Given the description of an element on the screen output the (x, y) to click on. 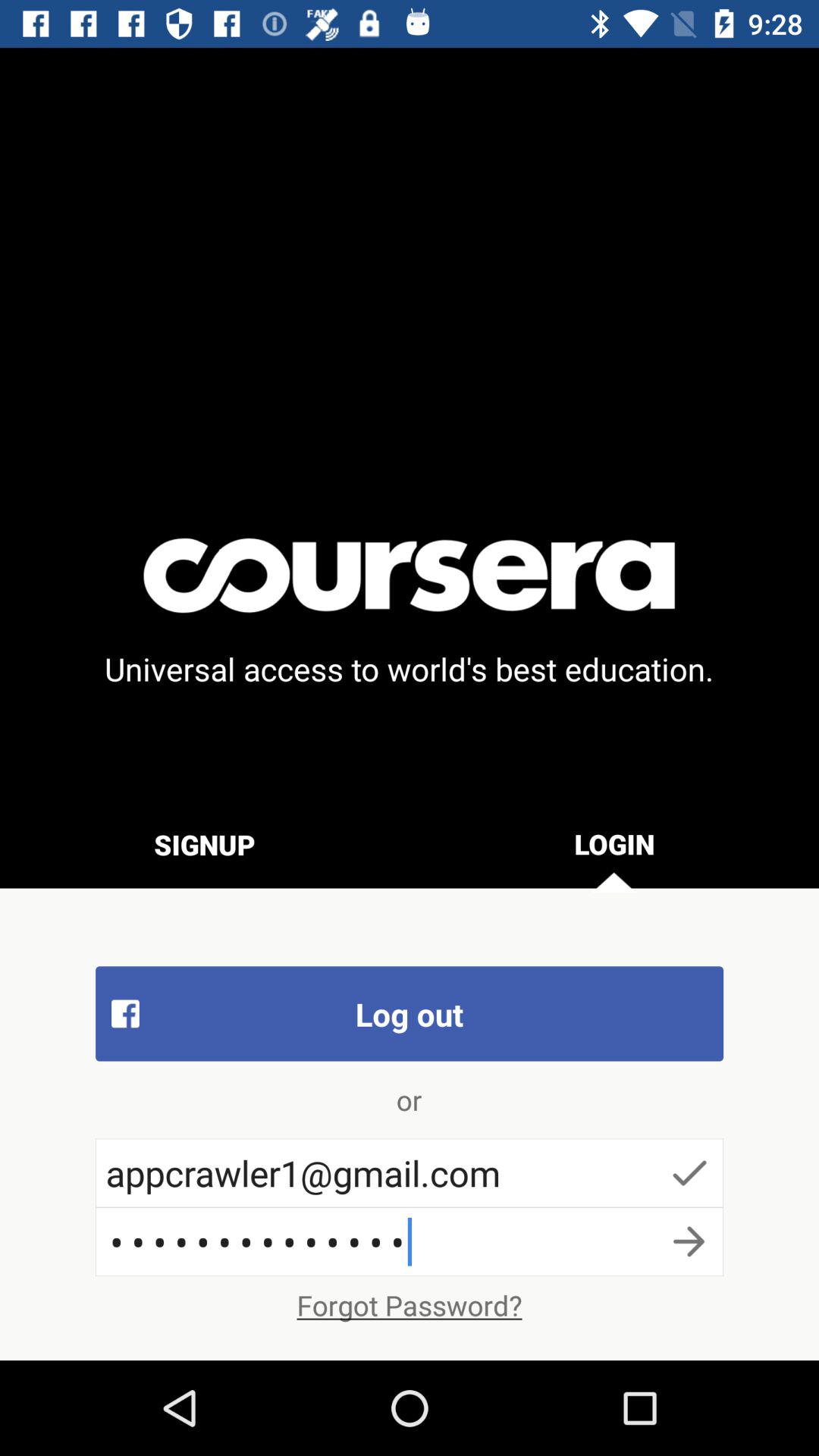
jump until log out (409, 1013)
